Given the description of an element on the screen output the (x, y) to click on. 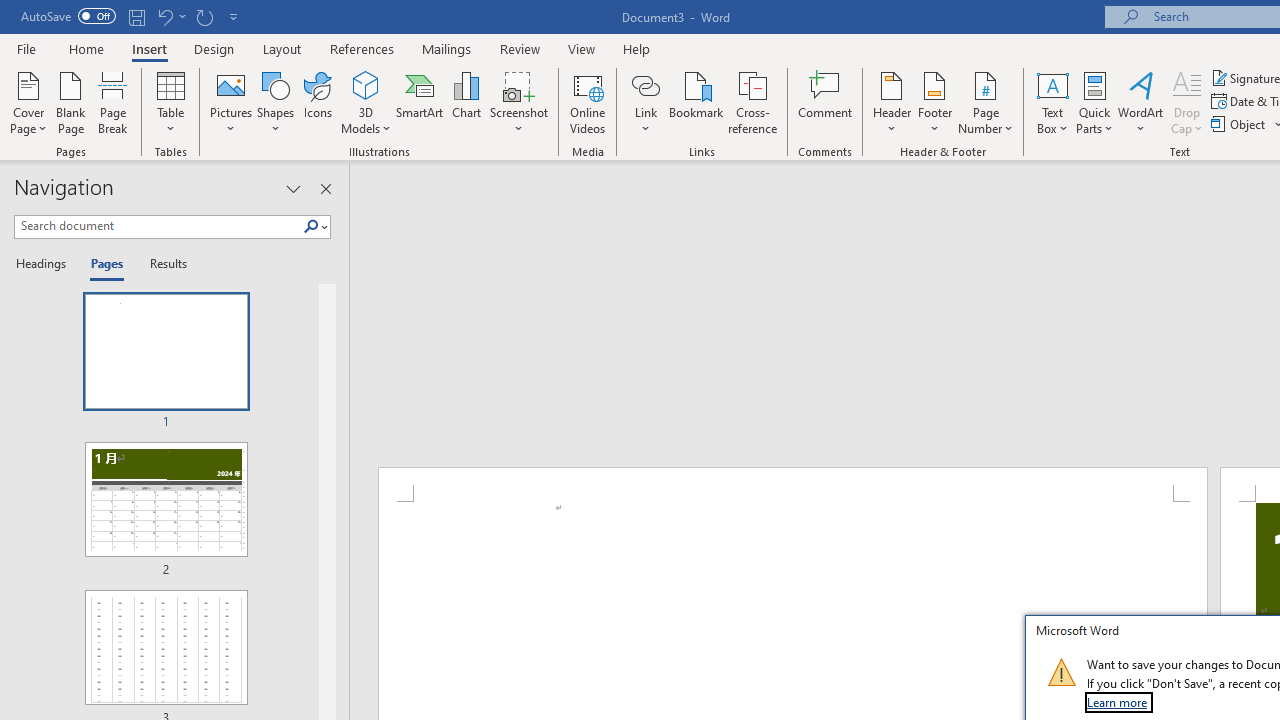
Cross-reference... (752, 102)
Object... (1240, 124)
Drop Cap (1187, 102)
Bookmark... (695, 102)
Headings (45, 264)
Blank Page (70, 102)
WordArt (1141, 102)
Learn more (1118, 702)
